Given the description of an element on the screen output the (x, y) to click on. 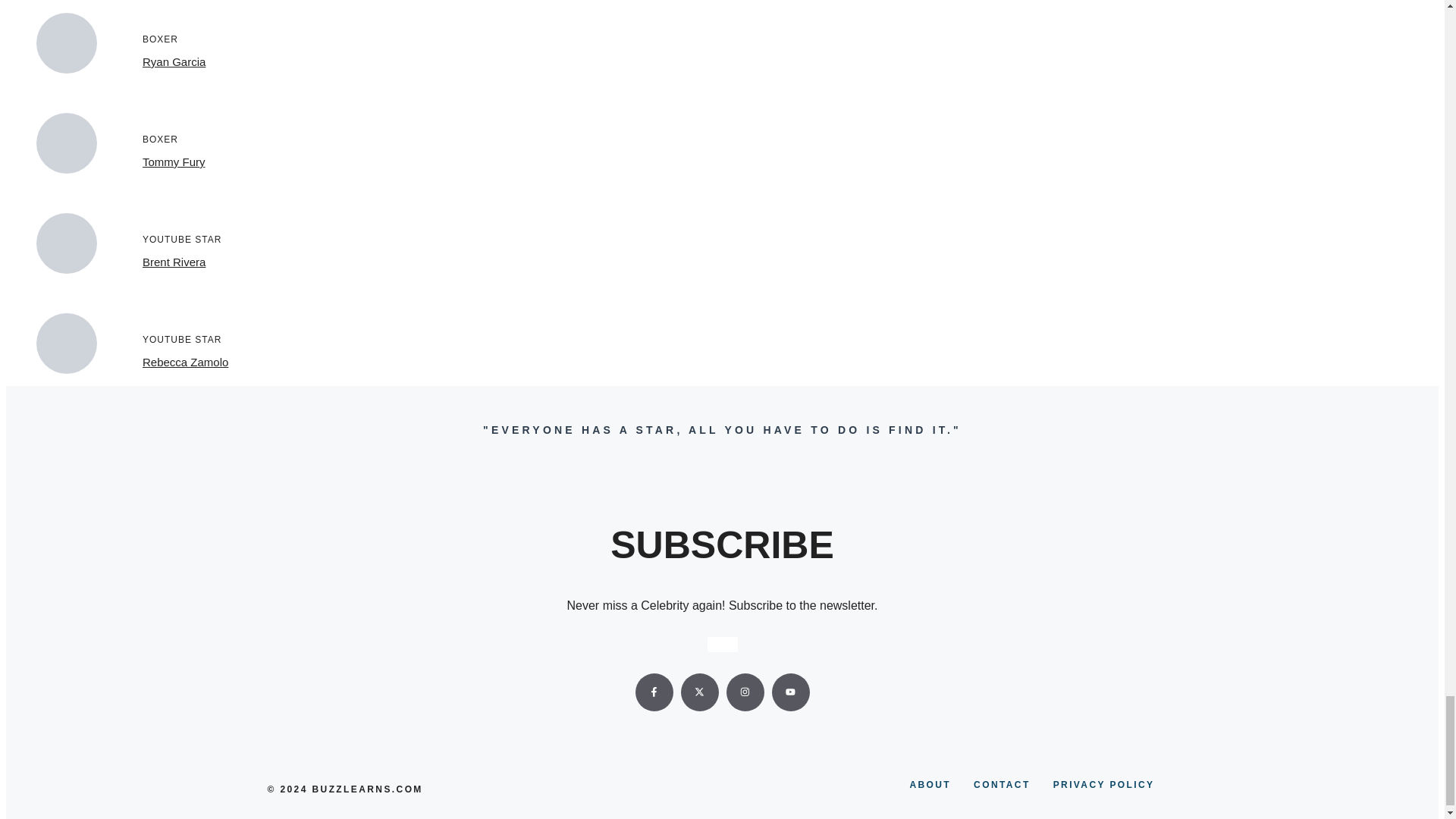
Ryan Garcia (173, 61)
Tommy Fury (173, 161)
